Given the description of an element on the screen output the (x, y) to click on. 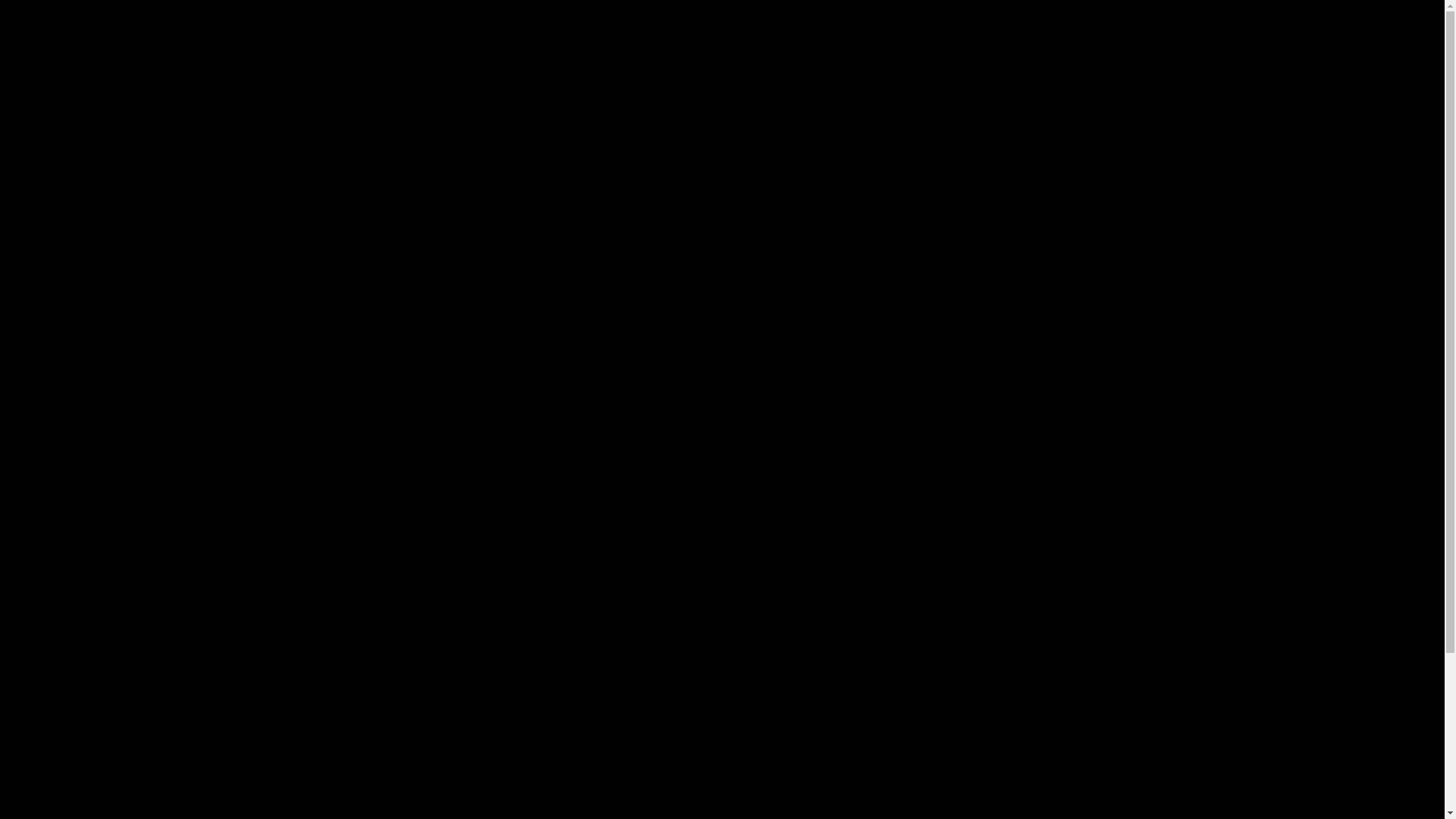
Bookings Element type: text (826, 45)
Functions Element type: text (567, 45)
Events Element type: text (405, 45)
Gift Vouchers Element type: text (1012, 45)
